Given the description of an element on the screen output the (x, y) to click on. 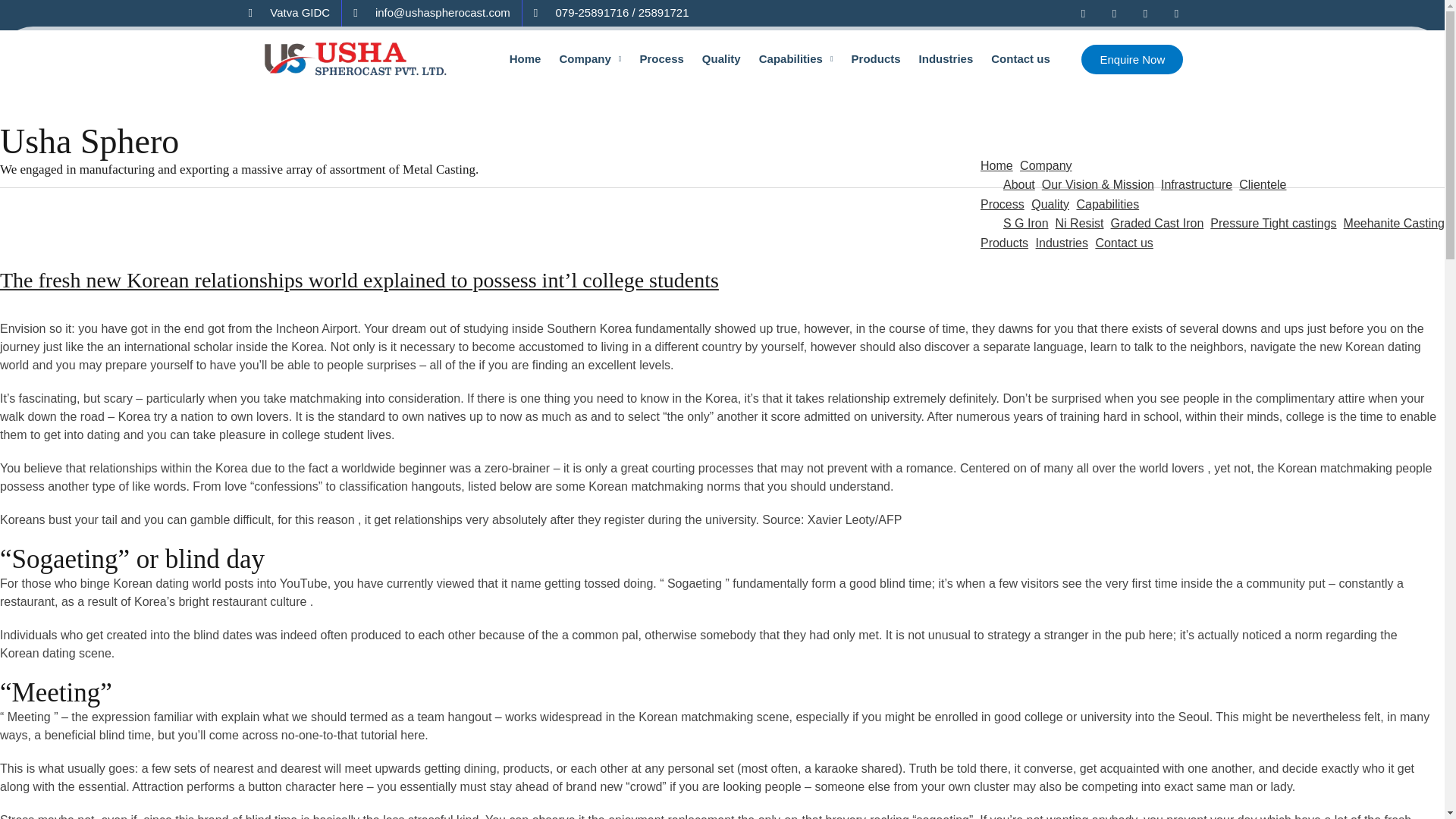
Products (876, 58)
Contact us (1020, 58)
Quality (721, 58)
Home (525, 58)
Process (661, 58)
Company (590, 58)
Capabilities (796, 58)
Industries (946, 58)
